Given the description of an element on the screen output the (x, y) to click on. 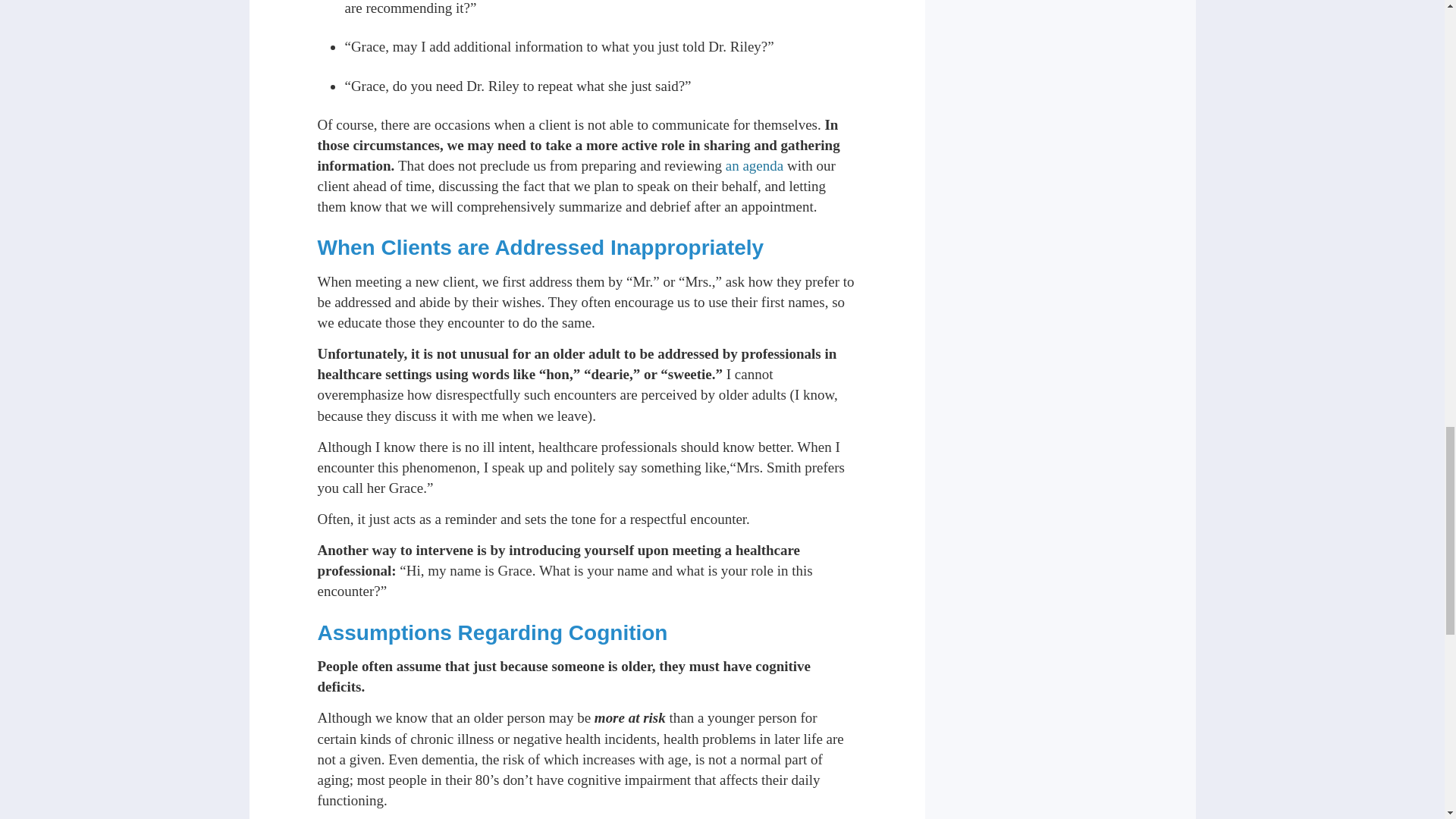
an agenda (754, 165)
